Given the description of an element on the screen output the (x, y) to click on. 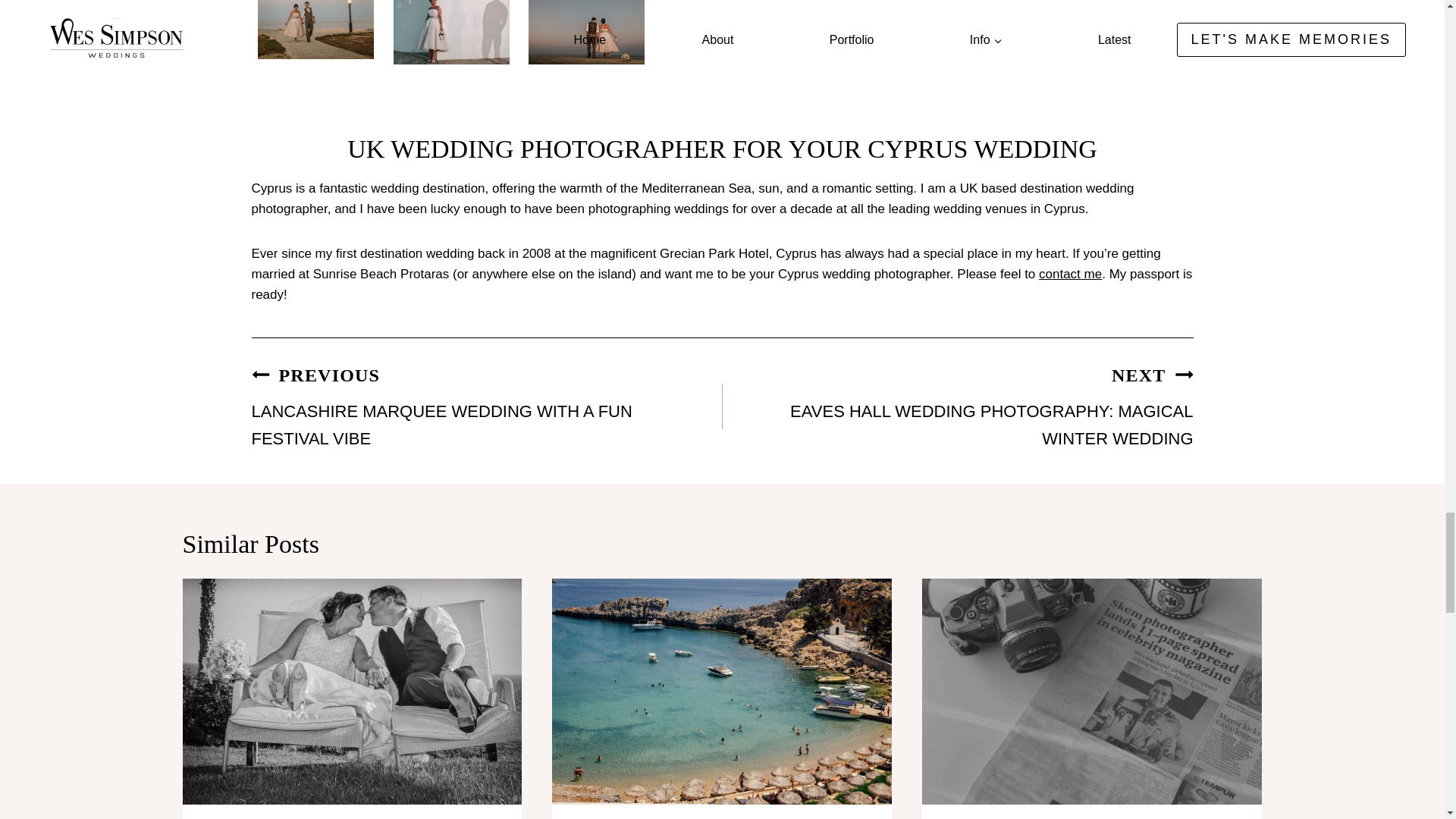
sunrise beach hotel protaras cyprus wedding photography 334 (315, 29)
contact me (957, 406)
sunrise beach hotel protaras cyprus wedding photography 332 (1070, 273)
sunrise beach hotel protaras cyprus wedding photography 333 (451, 32)
